Given the description of an element on the screen output the (x, y) to click on. 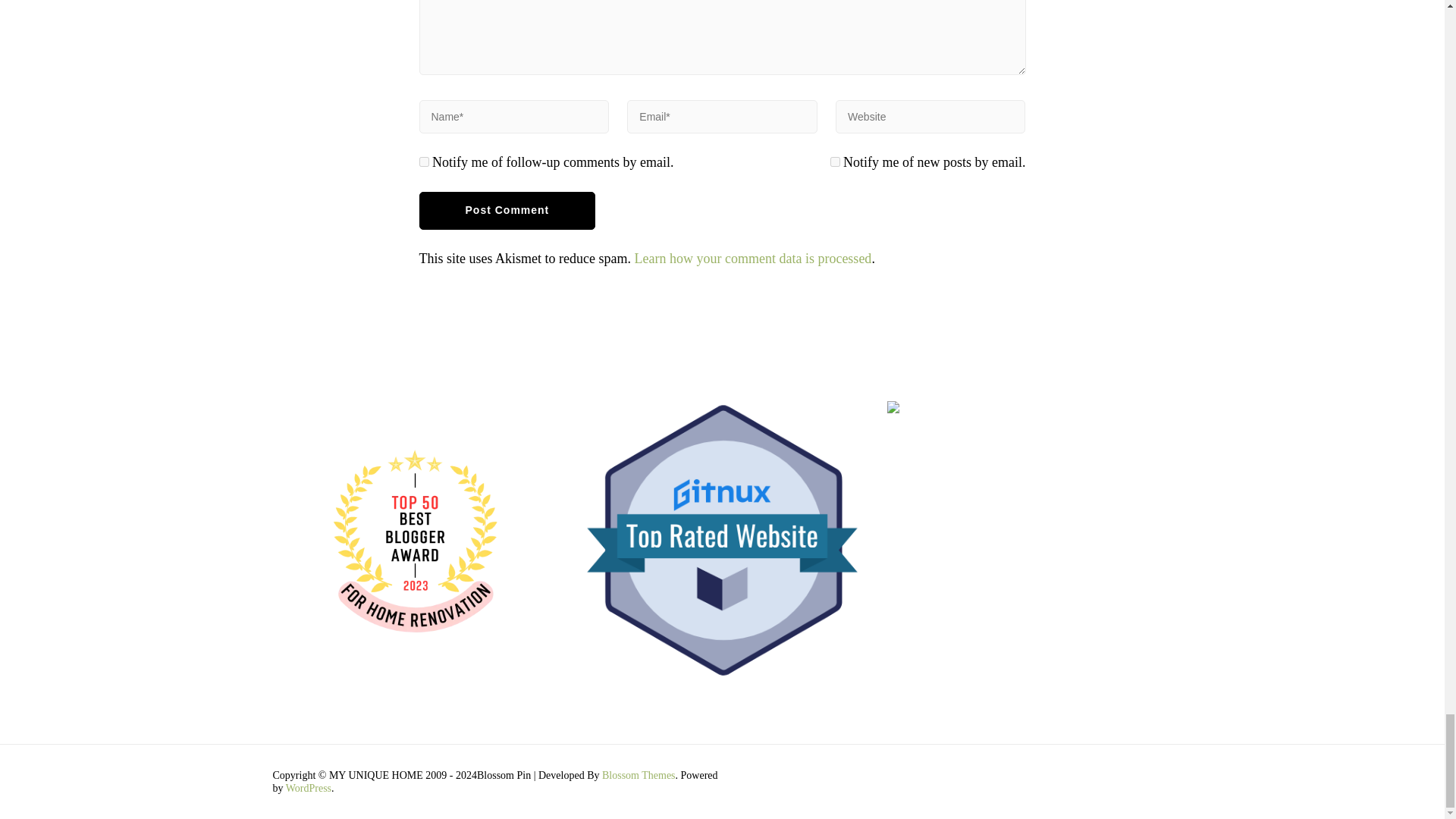
subscribe (834, 162)
Post Comment (507, 210)
subscribe (423, 162)
